Given the description of an element on the screen output the (x, y) to click on. 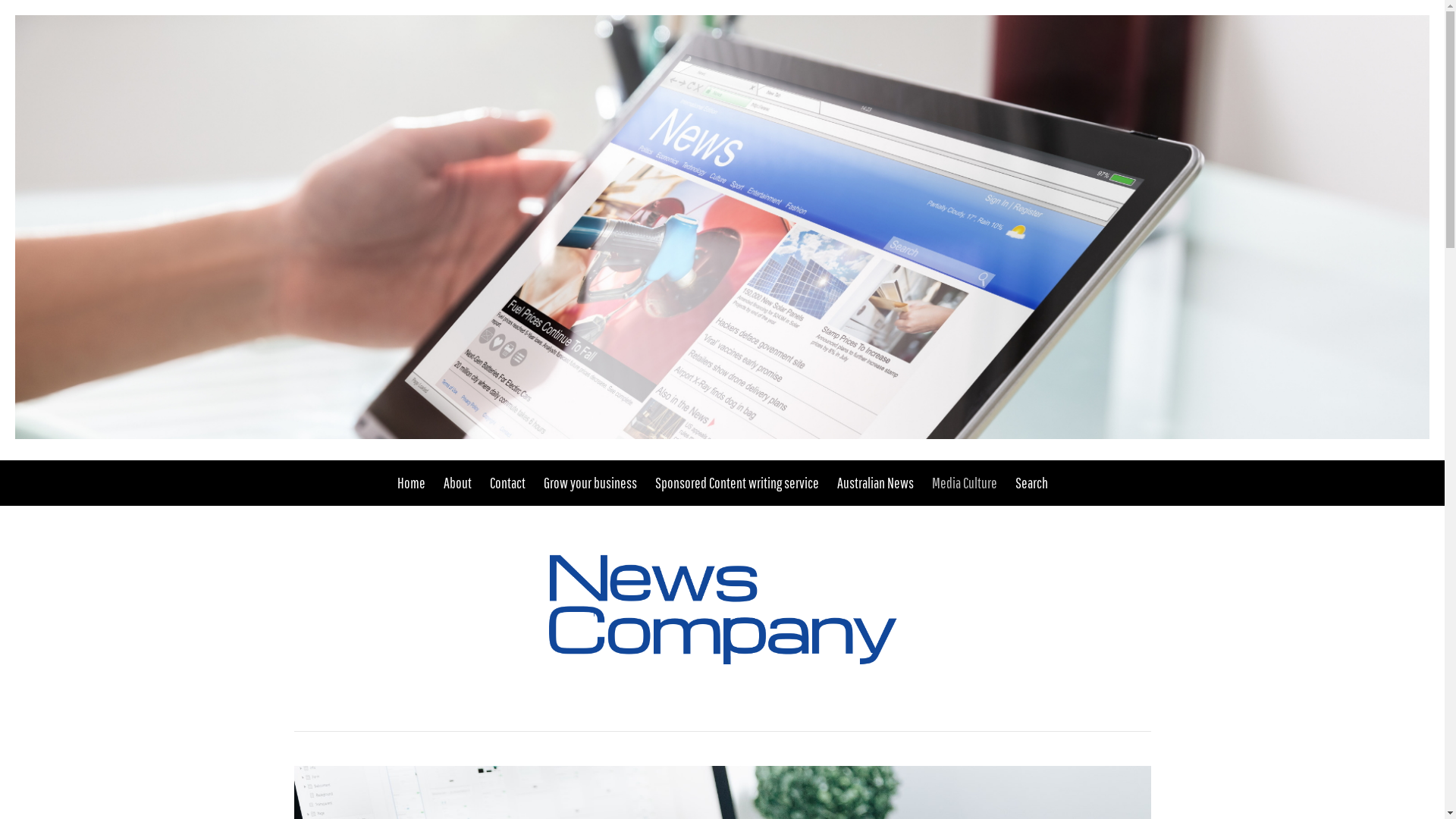
Media Culture Element type: text (963, 482)
Sponsored Content writing service Element type: text (737, 482)
Contact Element type: text (507, 482)
Australian News Element type: text (875, 482)
Home Element type: text (415, 482)
About Element type: text (456, 482)
Grow your business Element type: text (589, 482)
Search Element type: text (1026, 482)
